Given the description of an element on the screen output the (x, y) to click on. 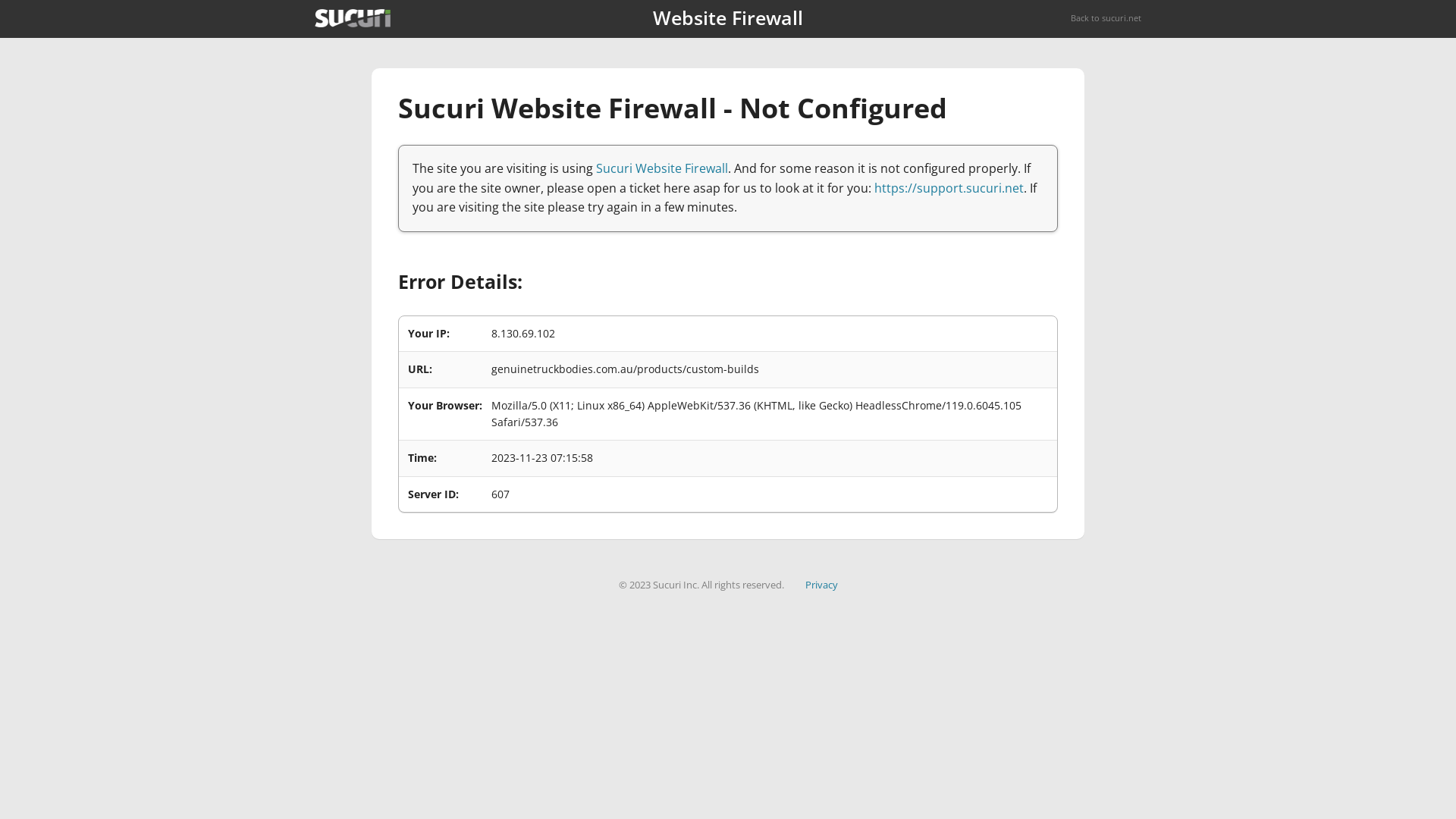
https://support.sucuri.net Element type: text (948, 187)
Privacy Element type: text (821, 584)
Back to sucuri.net Element type: text (1105, 18)
Sucuri Website Firewall Element type: text (662, 168)
